Given the description of an element on the screen output the (x, y) to click on. 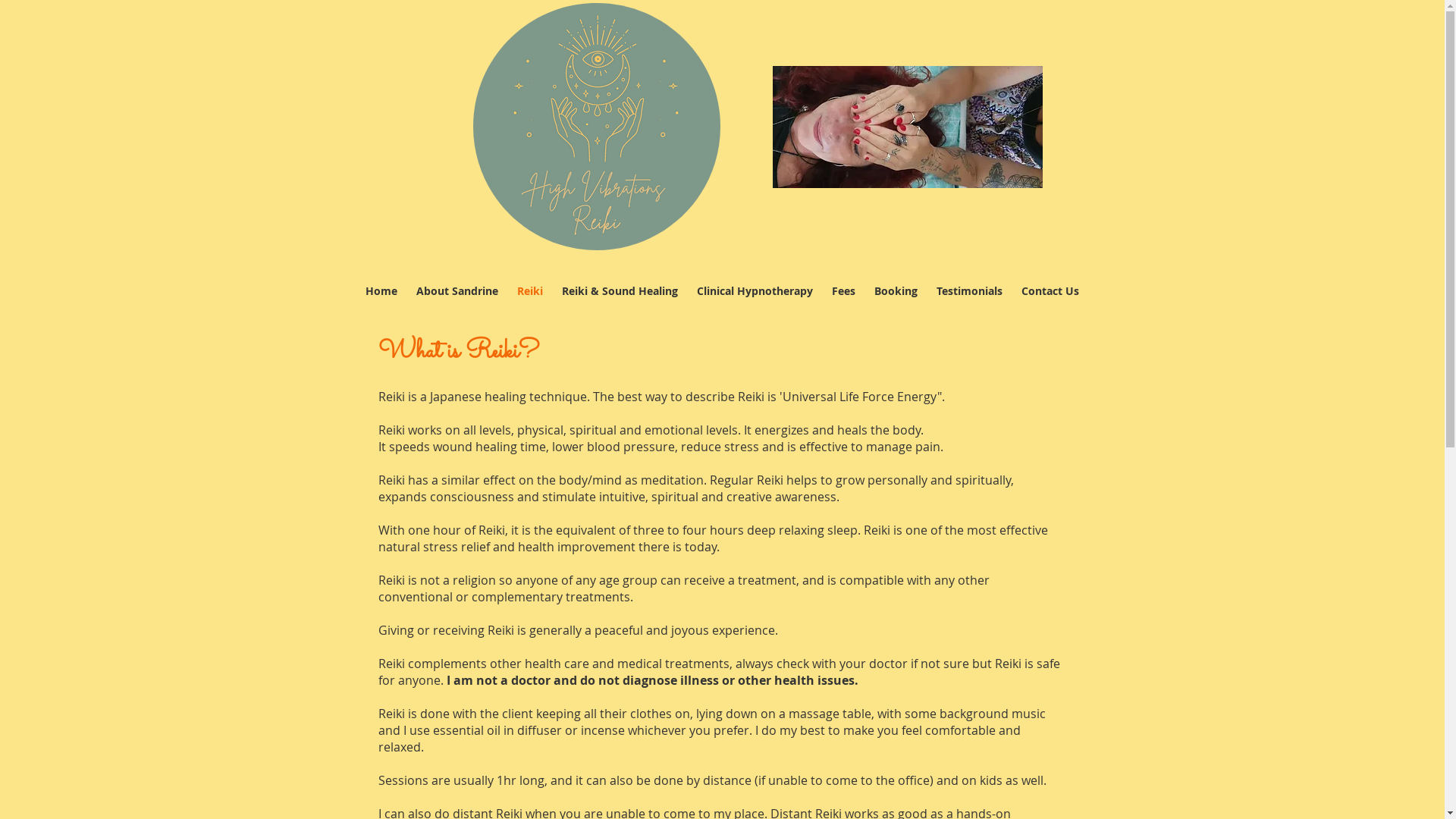
Reiki Element type: text (530, 291)
Clinical Hypnotherapy Element type: text (754, 291)
Reiki & Sound Healing Element type: text (619, 291)
Fees Element type: text (843, 291)
Home Element type: text (381, 291)
Booking Element type: text (895, 291)
About Sandrine Element type: text (456, 291)
Contact Us Element type: text (1049, 291)
Testimonials Element type: text (968, 291)
